Given the description of an element on the screen output the (x, y) to click on. 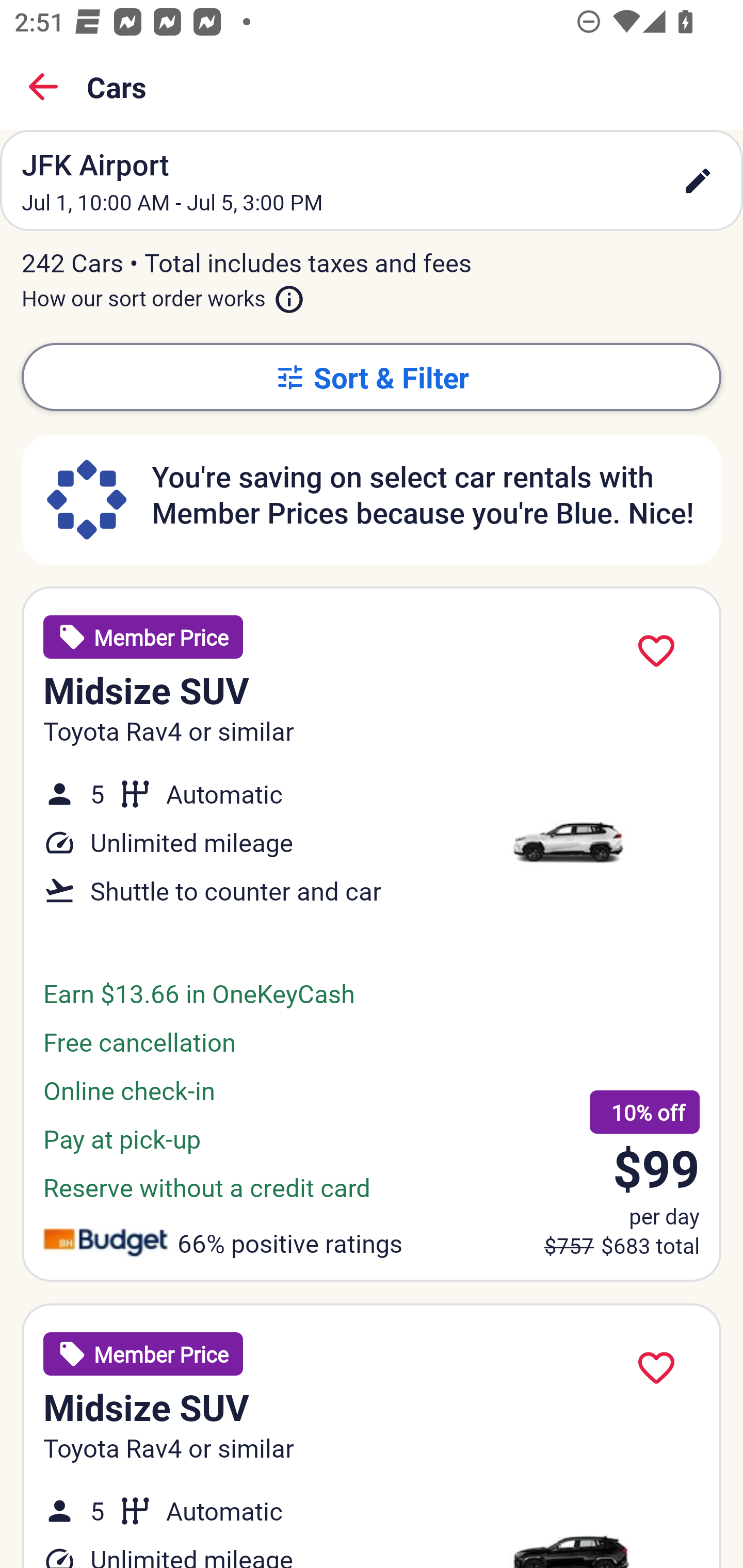
Back (43, 86)
edit (697, 180)
How our sort order works (163, 294)
Sort & Filter (371, 376)
